Given the description of an element on the screen output the (x, y) to click on. 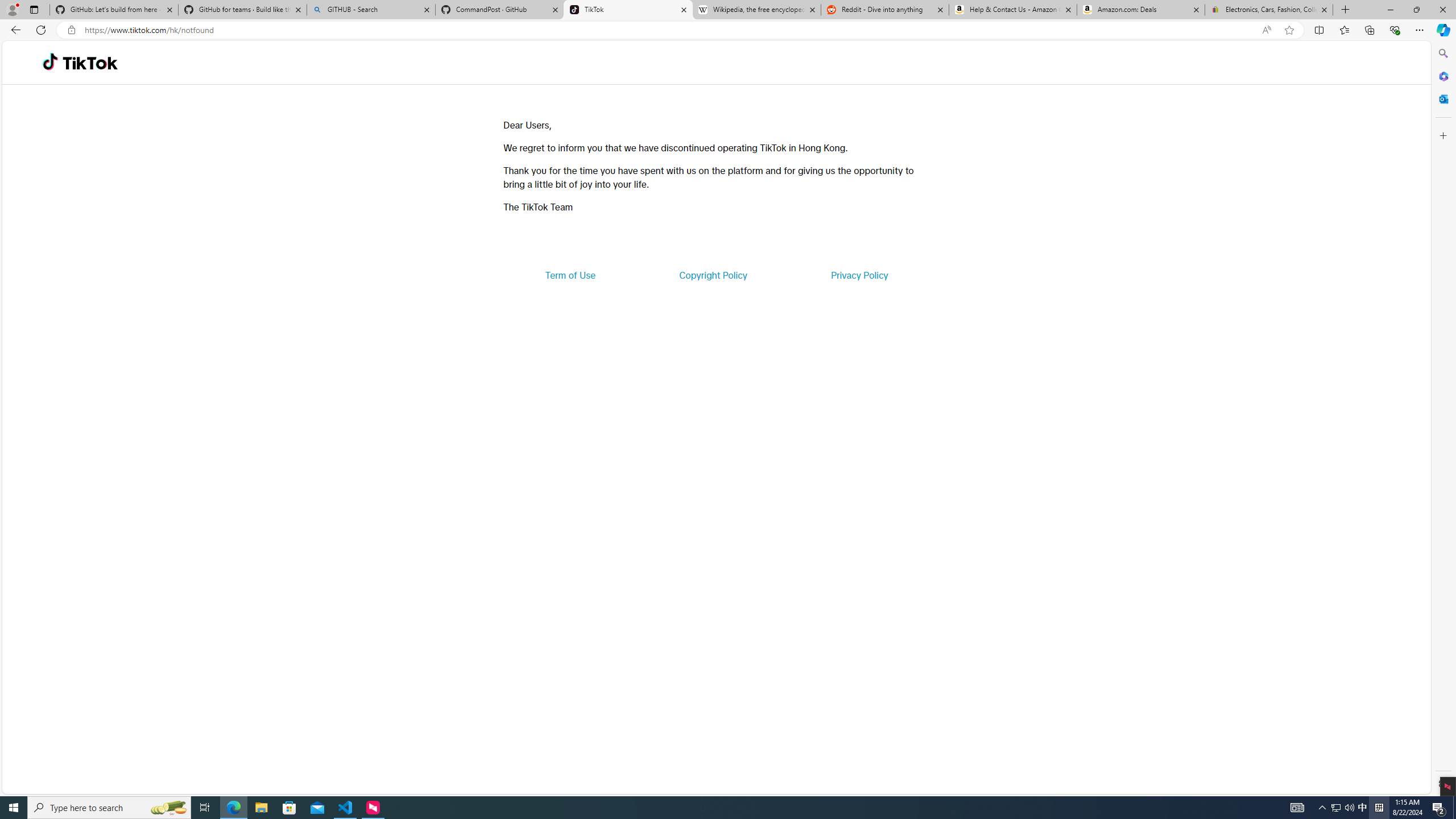
Amazon.com: Deals (1140, 9)
TikTok (628, 9)
